Given the description of an element on the screen output the (x, y) to click on. 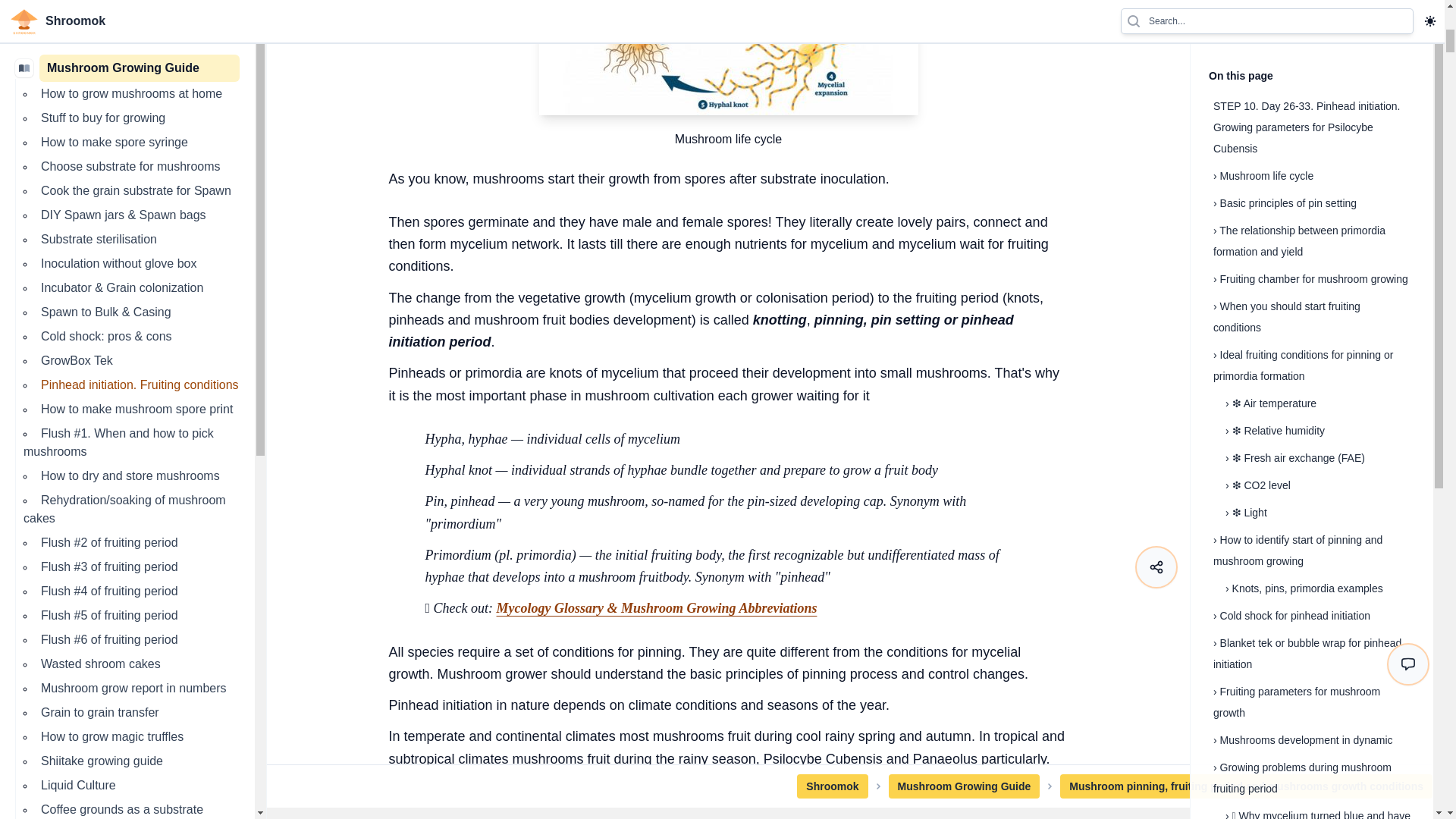
Responsible and careful attitude to Mushroom consumption (138, 298)
Mushroom cultivation photos gallery (138, 497)
Mushroom cultivation photos gallery (138, 548)
Helpful DIY equipment for mycological manipulations (138, 233)
Equipment for Mushroom Cultivation on Amazon (138, 431)
Agar Recipes (75, 14)
There are a lot of wonderful Mushroom species and strains (138, 166)
